Given the description of an element on the screen output the (x, y) to click on. 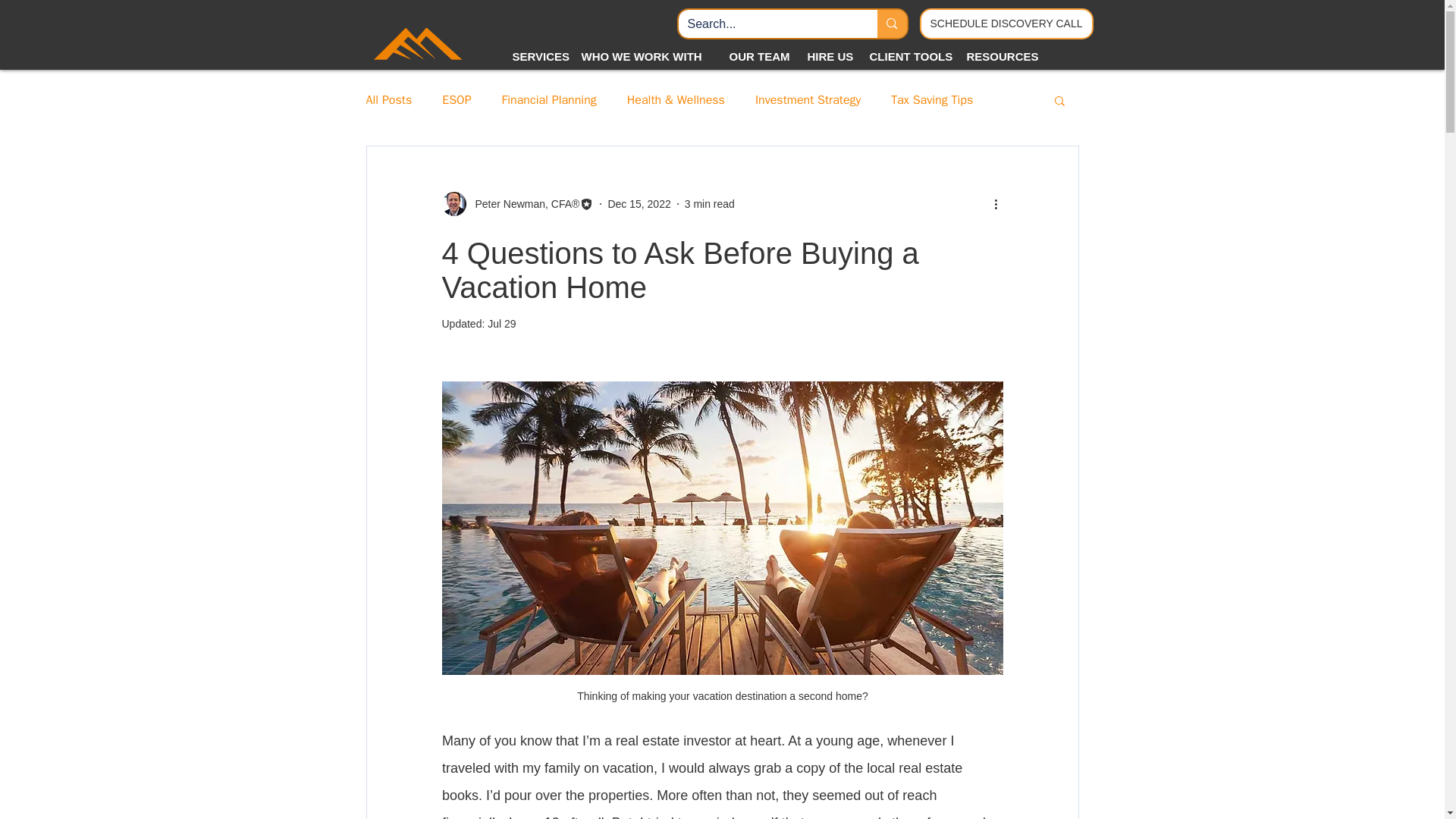
All Posts (388, 100)
ESOP (456, 100)
Investment Strategy (807, 100)
SCHEDULE DISCOVERY CALL (1005, 23)
Dec 15, 2022 (638, 203)
OUR TEAM (755, 56)
CLIENT TOOLS (907, 56)
Jul 29 (501, 323)
SERVICES (534, 56)
HIRE US (827, 56)
